Given the description of an element on the screen output the (x, y) to click on. 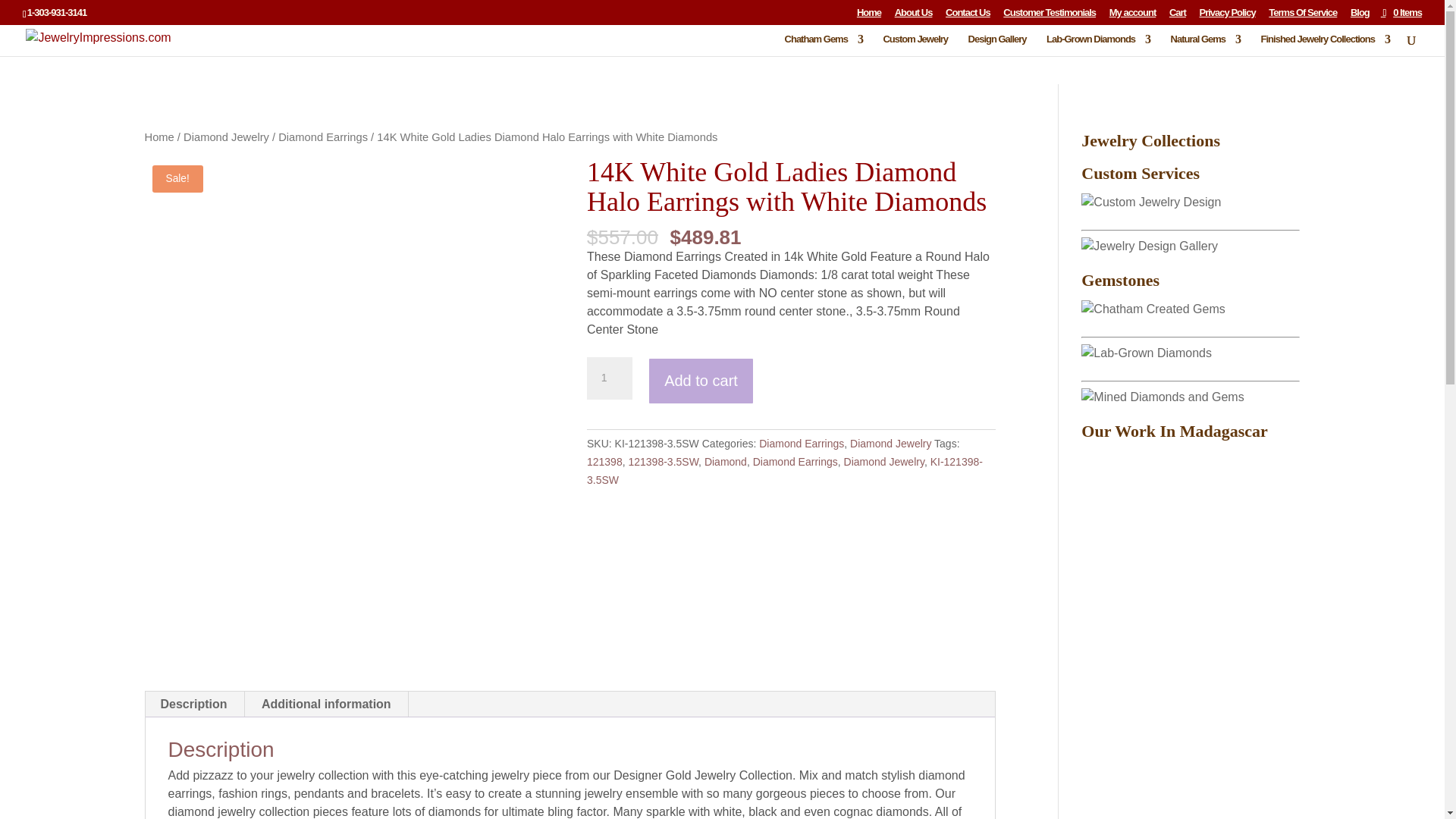
About Us (914, 16)
Cart (1177, 16)
1 (608, 378)
Privacy Policy (1227, 16)
0 Items (1401, 12)
Contact Us (967, 16)
Chatham Gems (823, 45)
Terms Of Service (1302, 16)
Custom Jewelry (914, 45)
Home (868, 16)
Blog (1360, 16)
Lab-Grown Diamonds (1098, 45)
Design Gallery (997, 45)
Customer Testimonials (1049, 16)
My account (1132, 16)
